Given the description of an element on the screen output the (x, y) to click on. 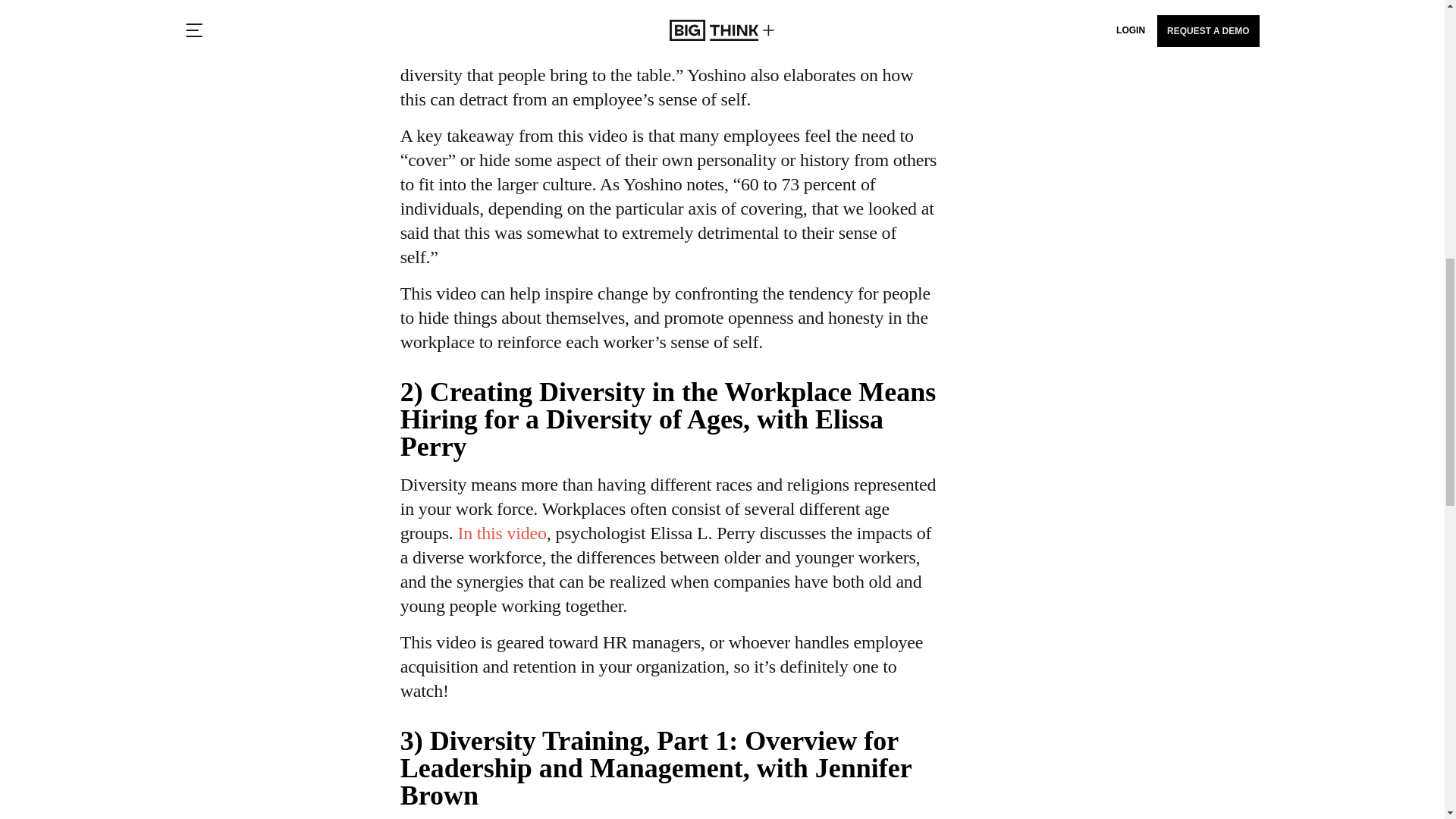
In this video (501, 532)
